Given the description of an element on the screen output the (x, y) to click on. 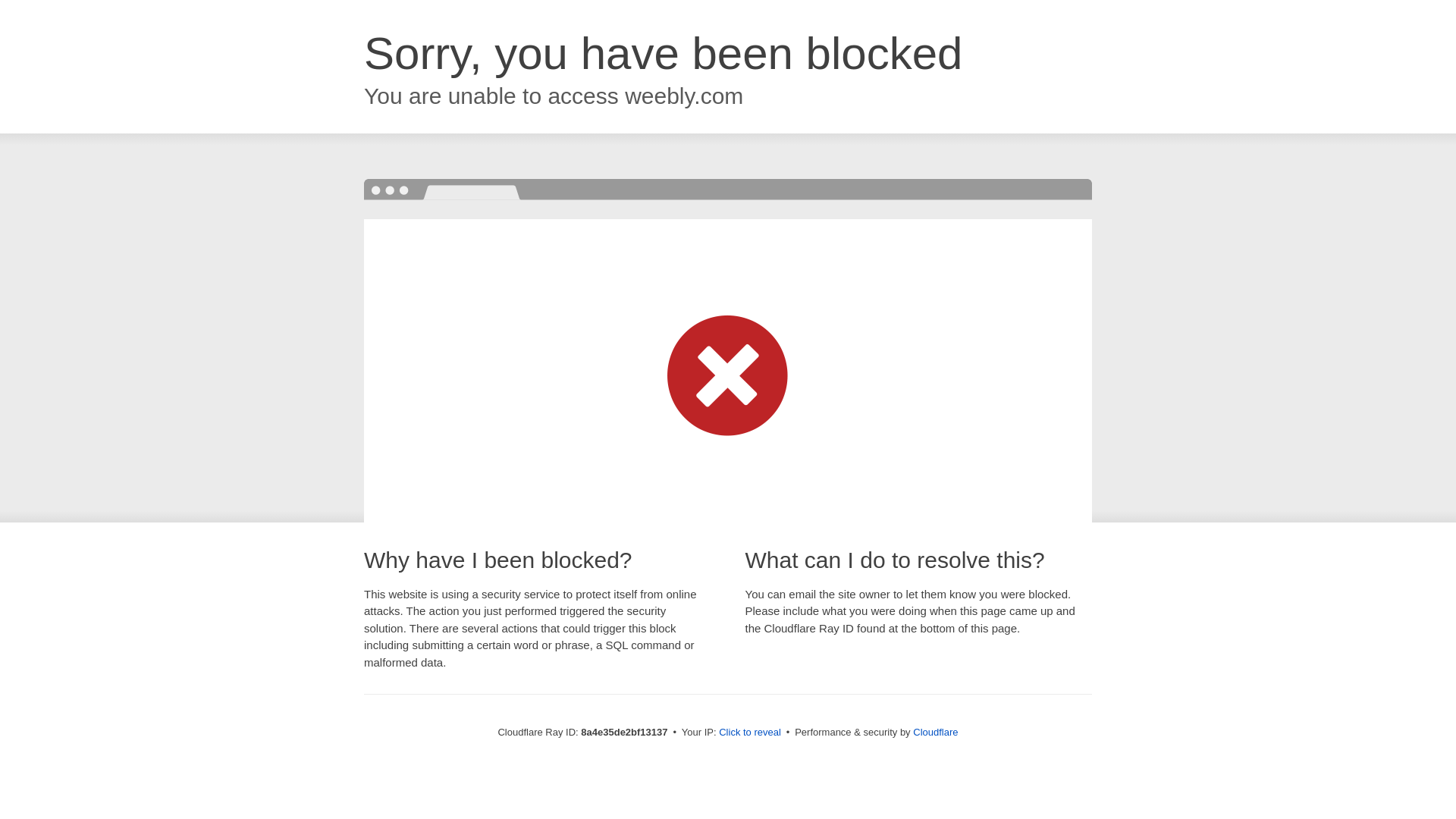
Cloudflare (935, 731)
Click to reveal (749, 732)
